Given the description of an element on the screen output the (x, y) to click on. 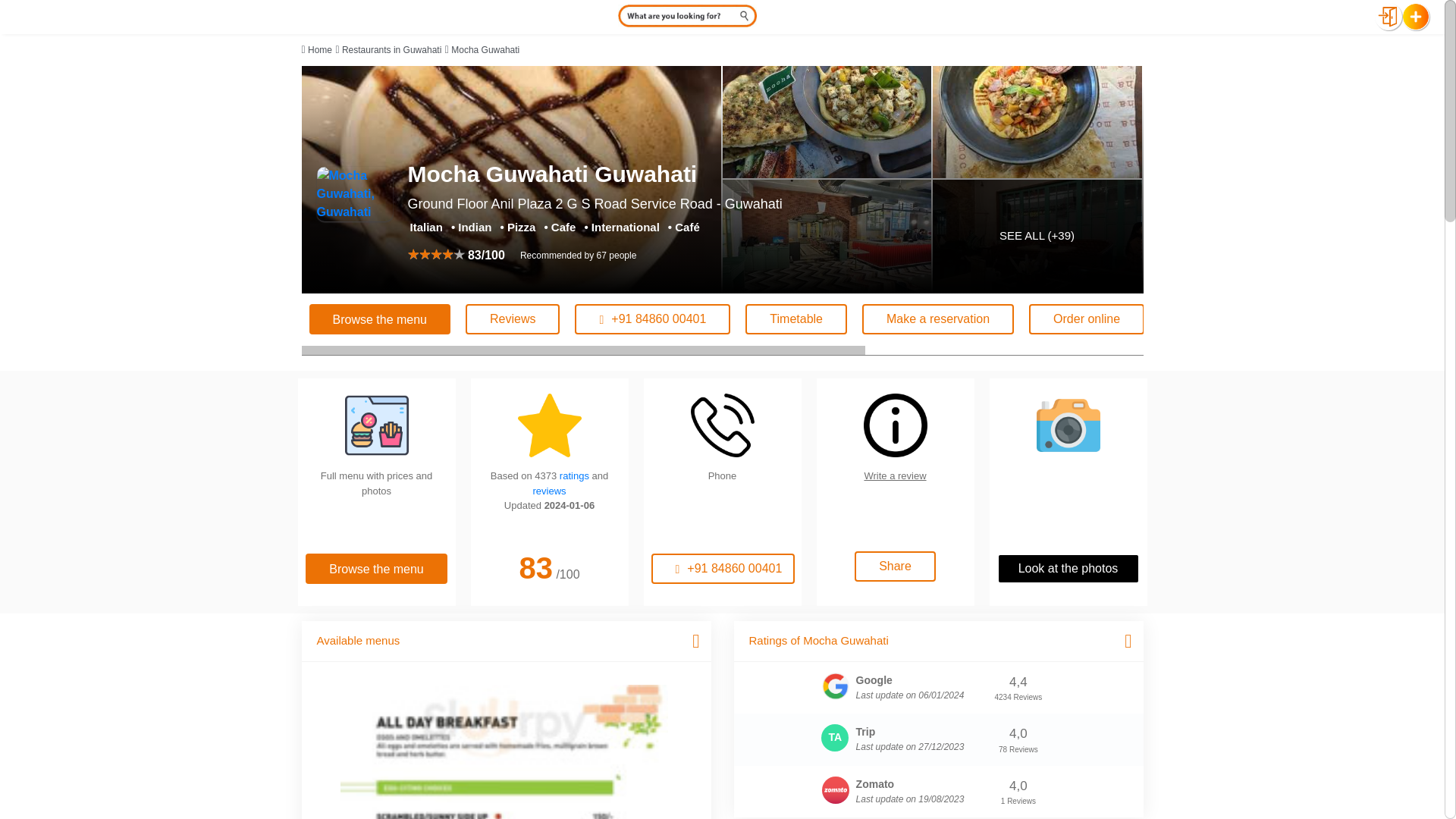
Timetable (796, 318)
Mocha Guwahati (485, 50)
Mocha Guwahati, Guwahati (355, 194)
Home (319, 50)
Main Menu (504, 751)
Order online (1086, 318)
Make a reservation (937, 318)
Share (1318, 318)
Reviews (512, 318)
Browse the menu (379, 318)
